Given the description of an element on the screen output the (x, y) to click on. 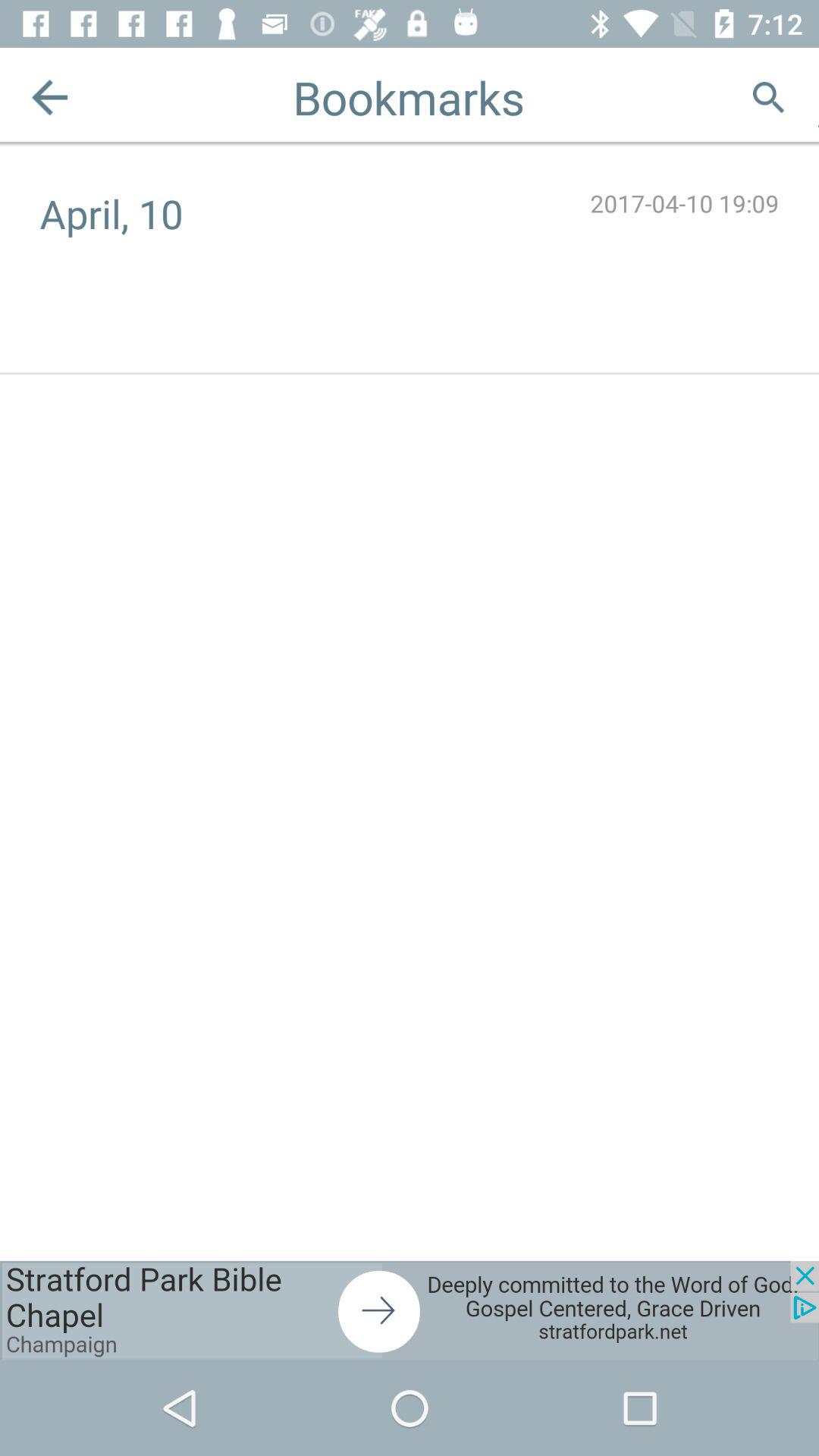
advertisement page (409, 1310)
